Given the description of an element on the screen output the (x, y) to click on. 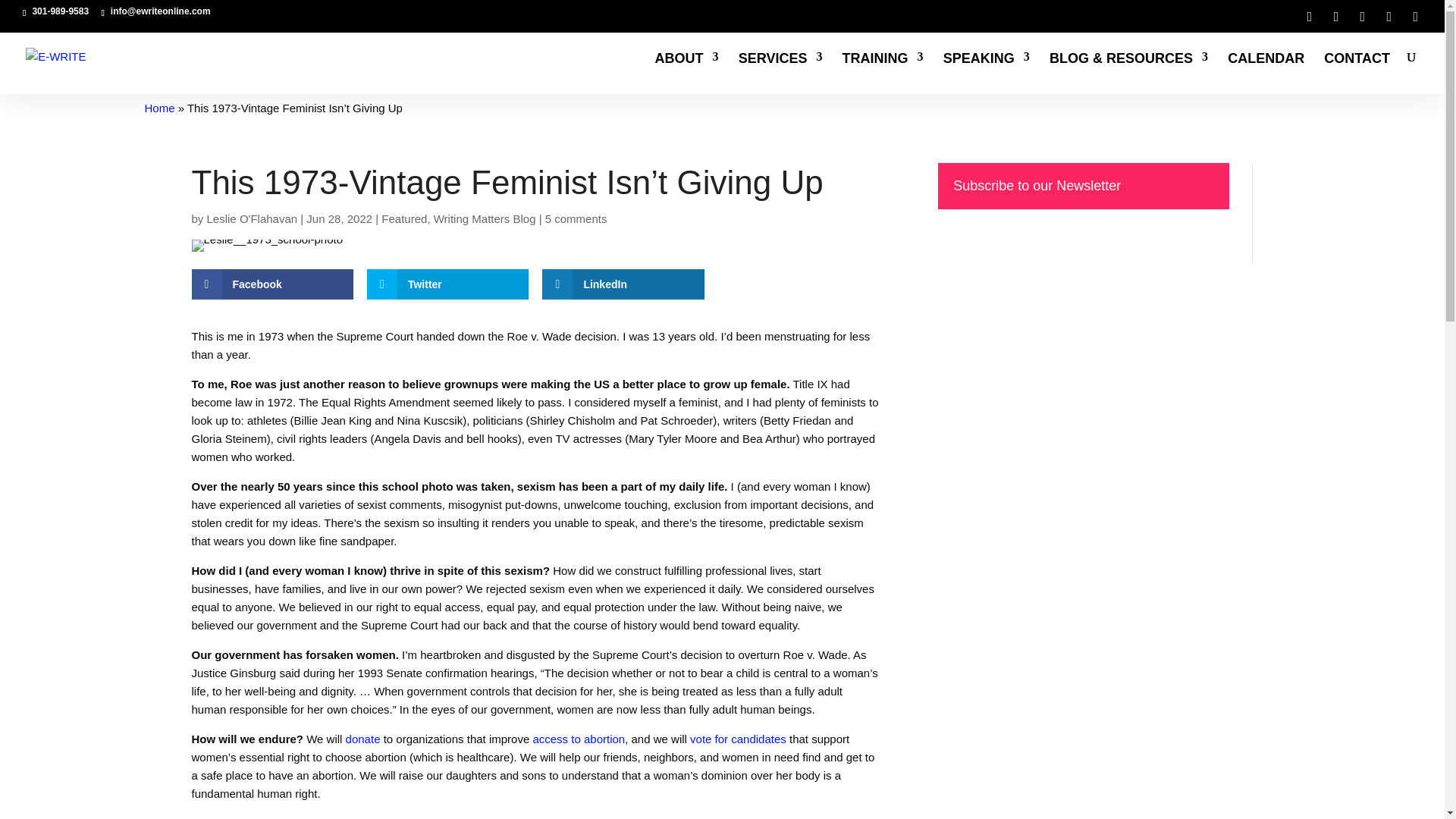
Leslie O'Flahavan (252, 218)
Writing Matters Blog (484, 218)
5 comments (575, 218)
SPEAKING (986, 73)
Posts by Leslie O'Flahavan (252, 218)
CONTACT (1356, 73)
Featured (403, 218)
SERVICES (780, 73)
CALENDAR (1265, 73)
TRAINING (883, 73)
ABOUT (687, 73)
Facebook (271, 284)
Home (159, 107)
Twitter (447, 284)
